Given the description of an element on the screen output the (x, y) to click on. 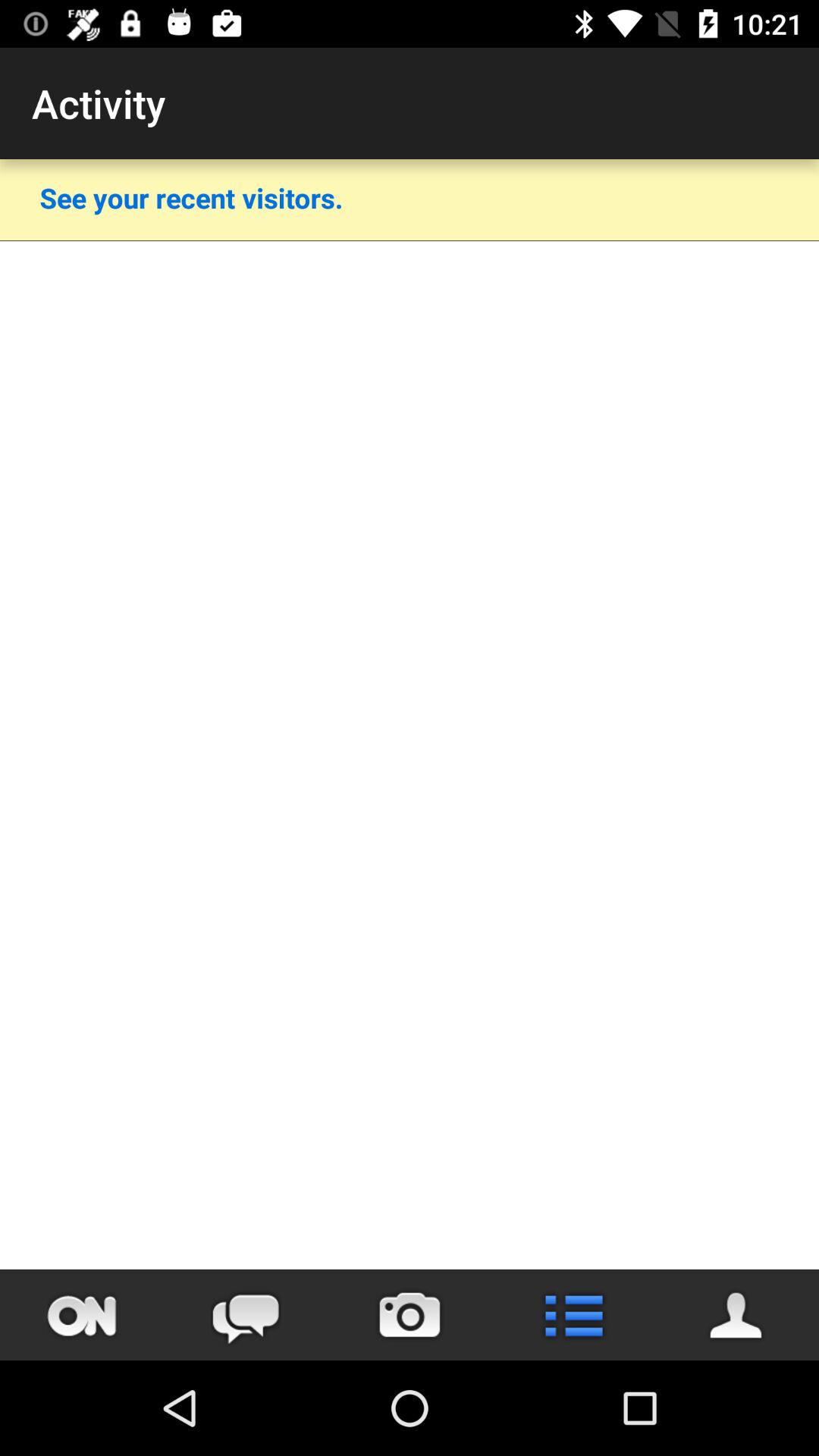
open the chat (245, 1315)
